Given the description of an element on the screen output the (x, y) to click on. 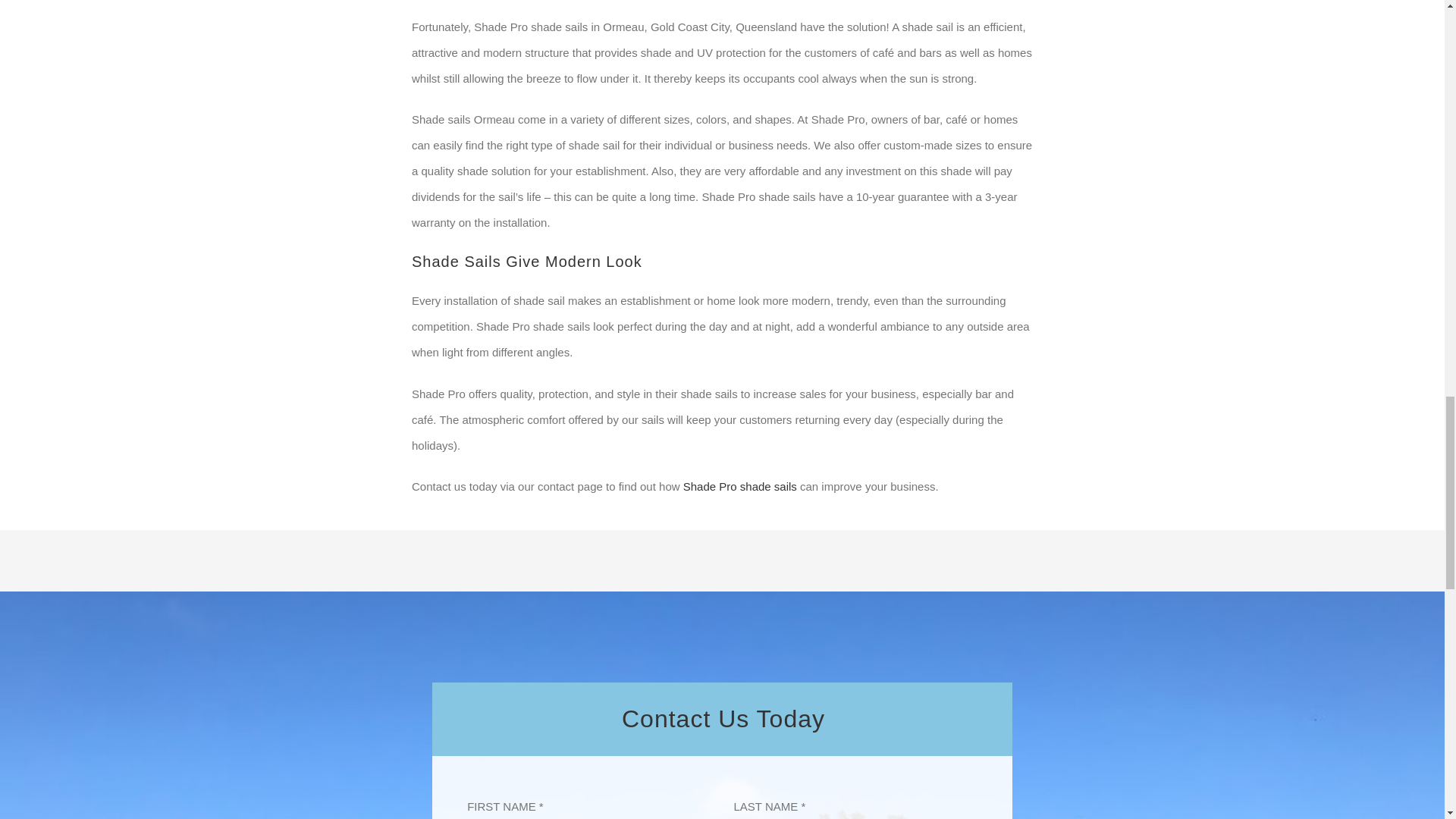
Shade Pro shade sails (739, 486)
